Given the description of an element on the screen output the (x, y) to click on. 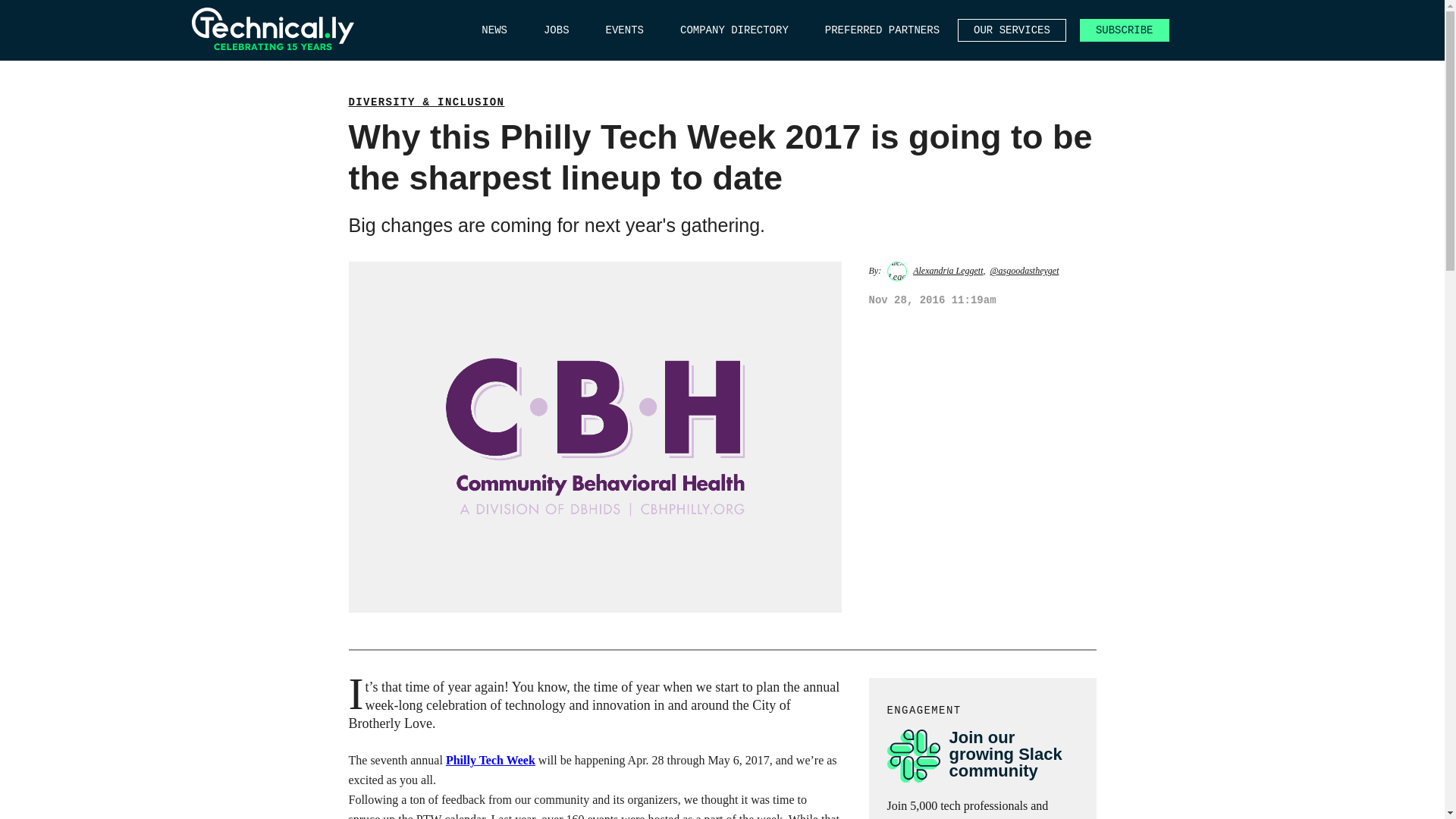
Alexandria Leggett's Twitter (1024, 270)
Posts by Alexandria Leggett (947, 270)
SUBSCRIBE (1124, 29)
Preferred Partners (882, 30)
Events Board (624, 30)
NEWS (493, 30)
JOBS (556, 30)
Our Services (1011, 29)
Philly Tech Week (490, 759)
PREFERRED PARTNERS (882, 30)
